Given the description of an element on the screen output the (x, y) to click on. 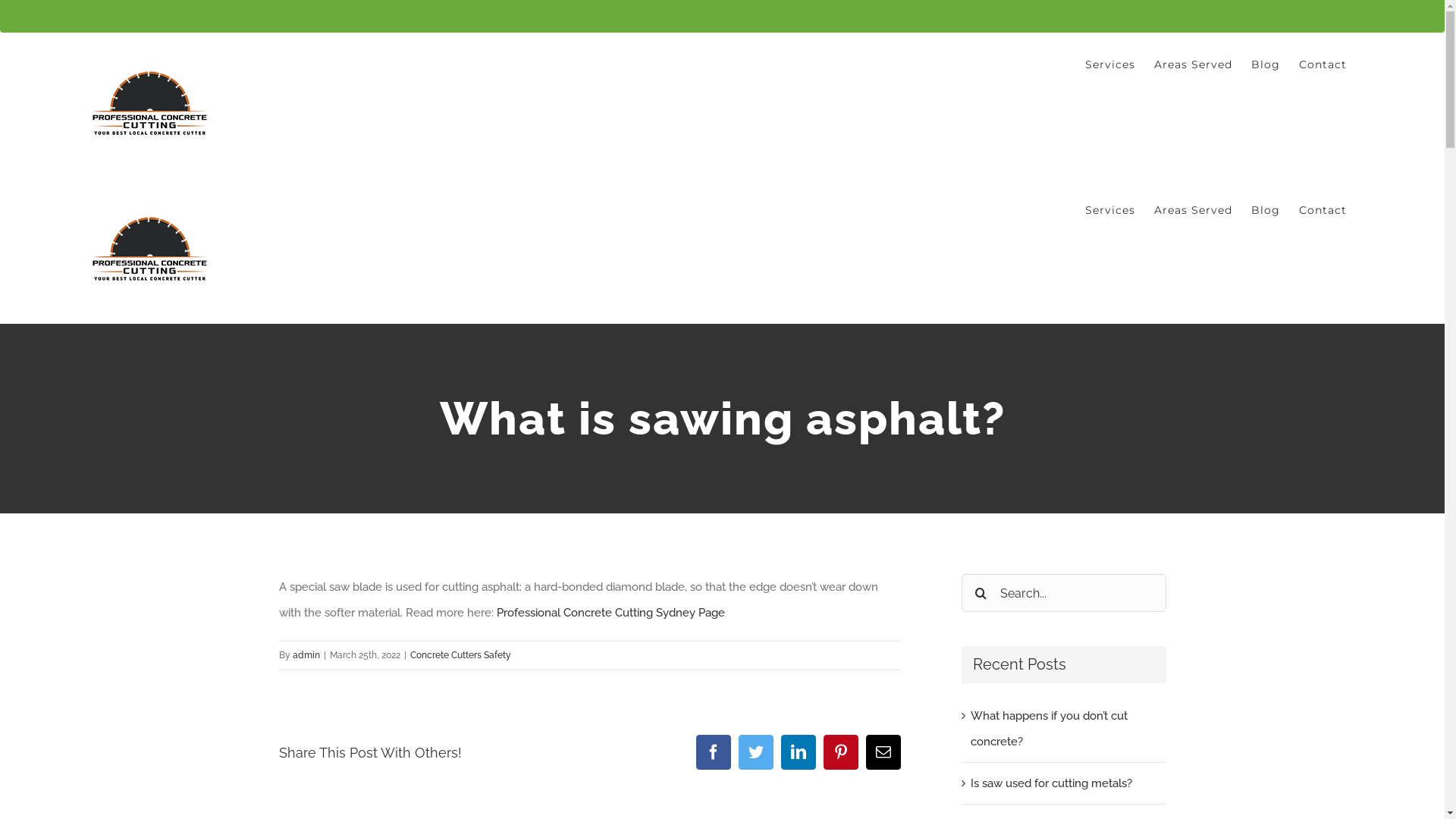
admin Element type: text (306, 654)
Services Element type: text (1110, 209)
Contact Element type: text (1322, 209)
Pinterest Element type: text (840, 751)
Facebook Element type: text (713, 751)
LinkedIn Element type: text (798, 751)
Blog Element type: text (1265, 64)
Concrete Cutters Safety Element type: text (459, 654)
Services Element type: text (1110, 64)
Professional Concrete Cutting Sydney Page Element type: text (609, 612)
Blog Element type: text (1265, 209)
Email Element type: text (883, 751)
Is saw used for cutting metals? Element type: text (1051, 783)
Twitter Element type: text (755, 751)
Areas Served Element type: text (1193, 64)
Contact Element type: text (1322, 64)
Areas Served Element type: text (1193, 209)
